Given the description of an element on the screen output the (x, y) to click on. 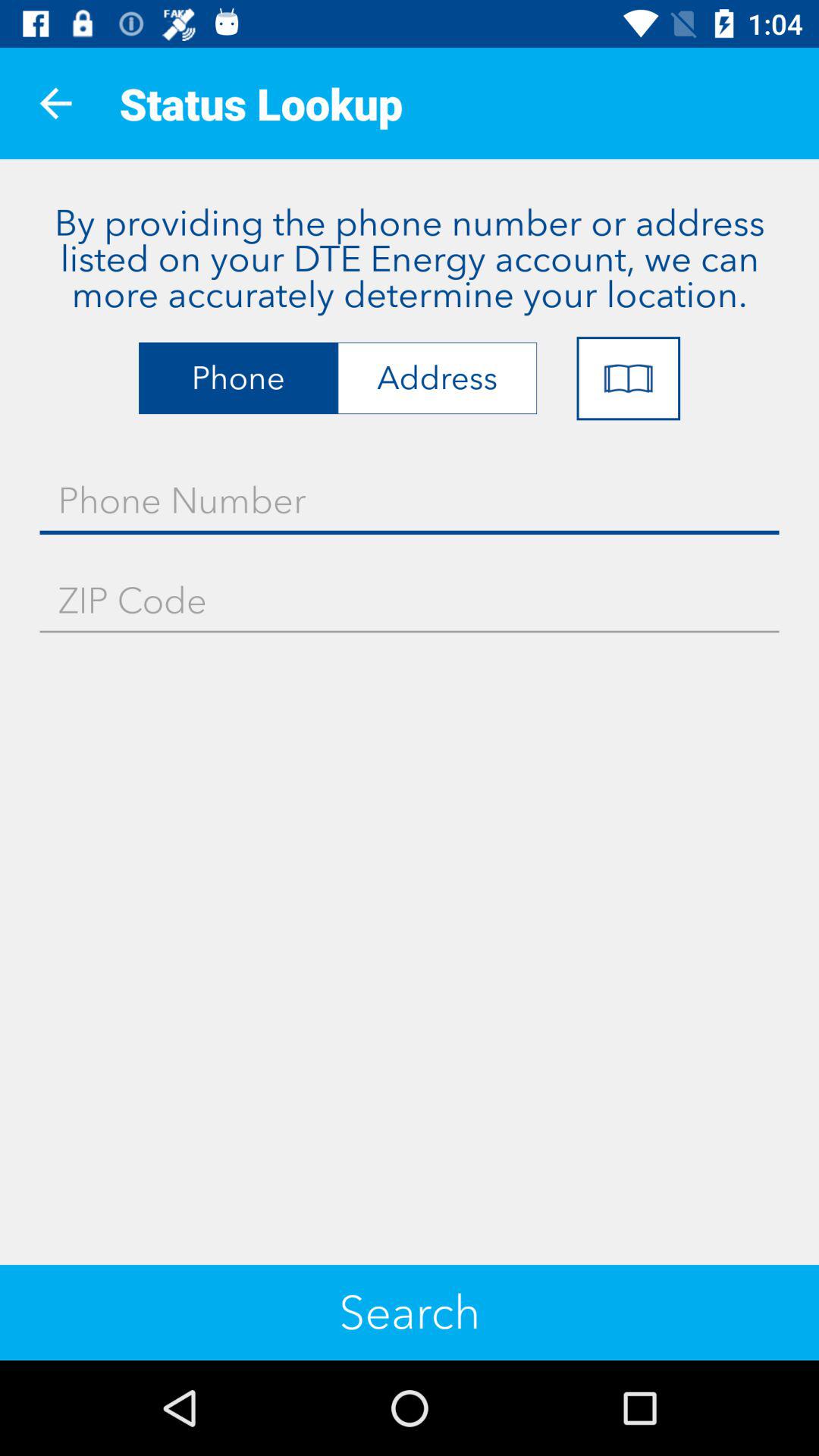
turn off search item (409, 1312)
